Given the description of an element on the screen output the (x, y) to click on. 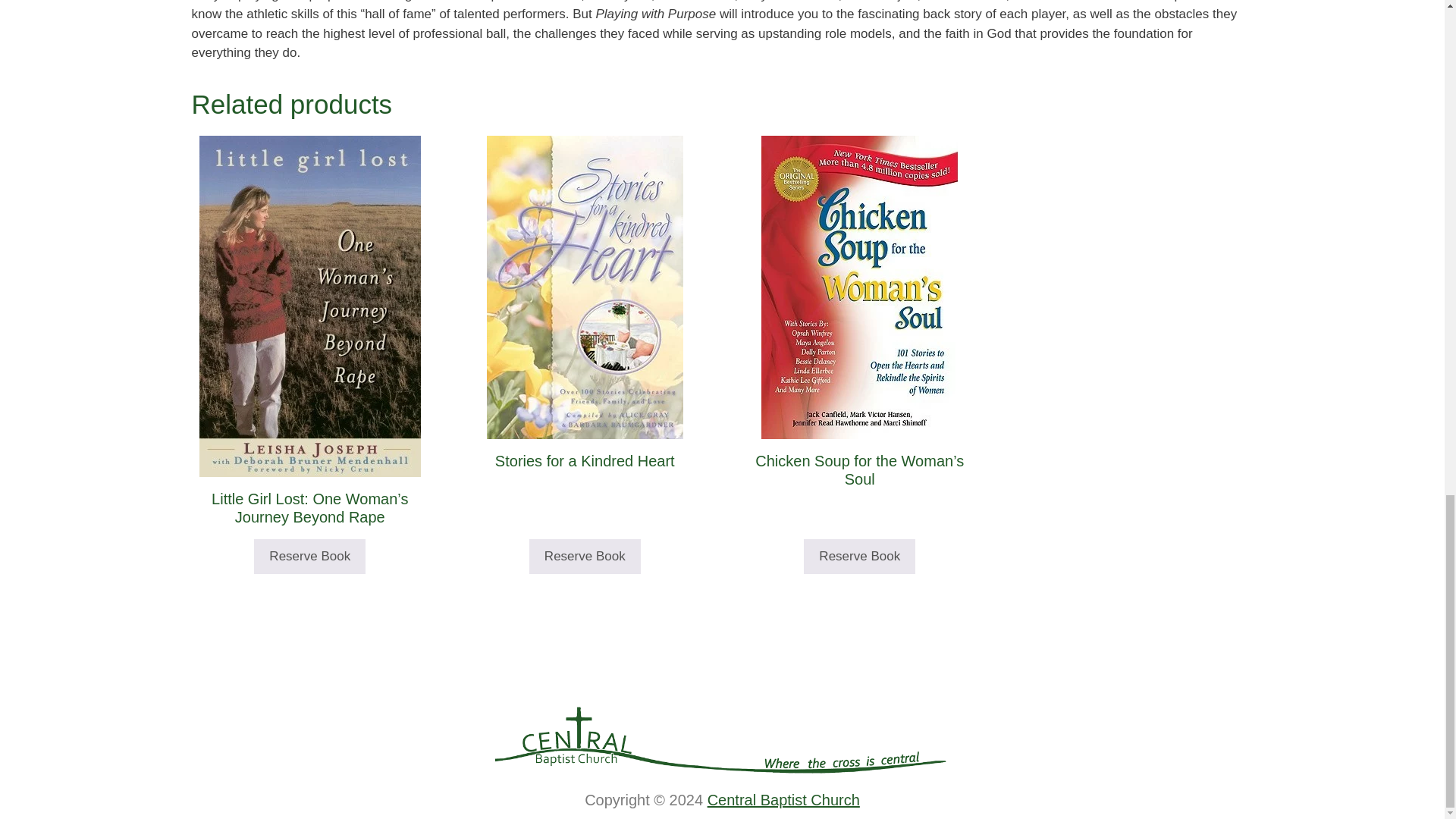
Scroll back to top (1406, 272)
